Given the description of an element on the screen output the (x, y) to click on. 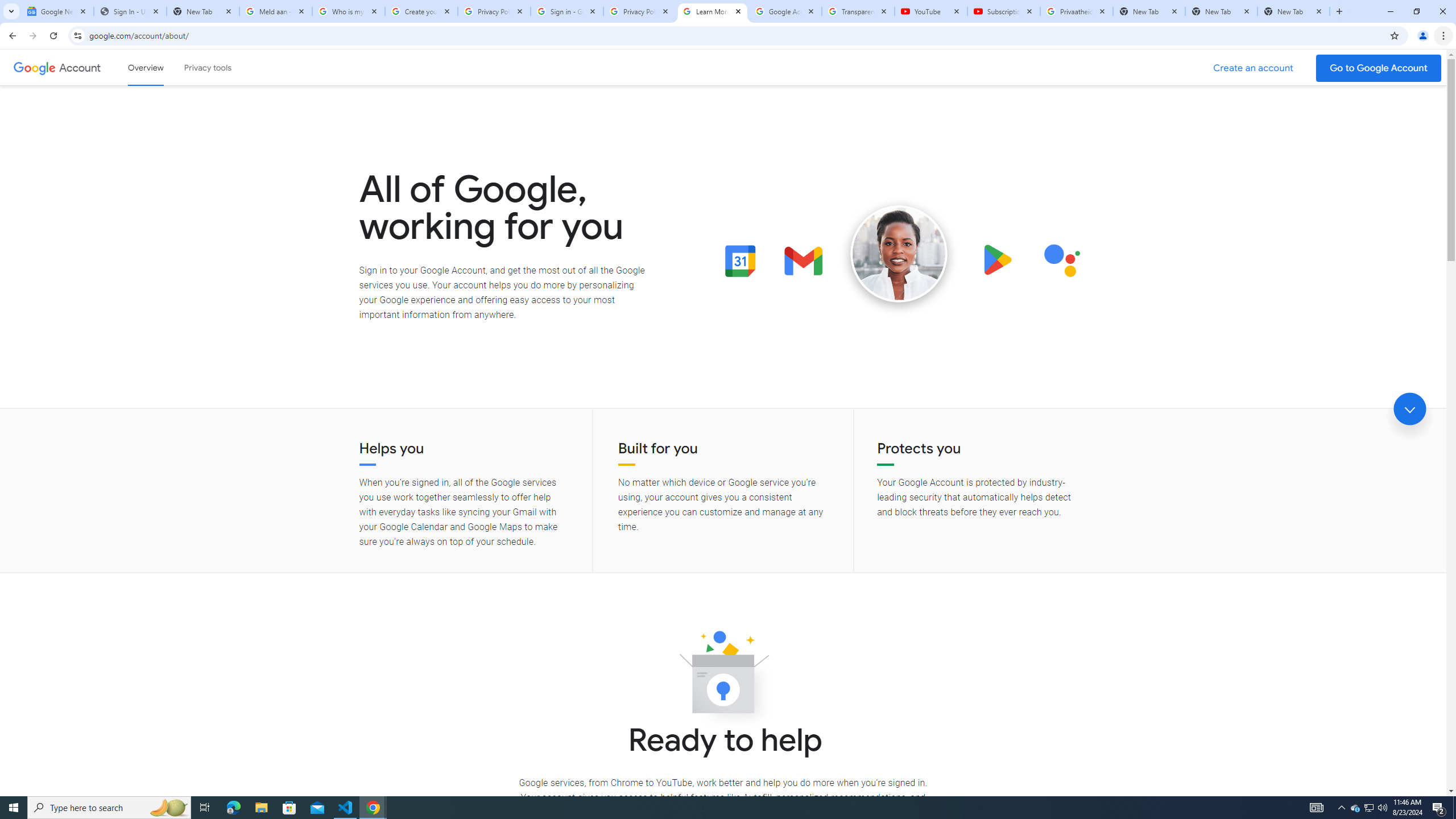
Create your Google Account (421, 11)
New Tab (1221, 11)
Who is my administrator? - Google Account Help (348, 11)
Ready to help (722, 675)
Jump link (1409, 408)
YouTube (930, 11)
Subscriptions - YouTube (1003, 11)
New Tab (1293, 11)
Google logo (34, 67)
Privacy tools (207, 67)
